Given the description of an element on the screen output the (x, y) to click on. 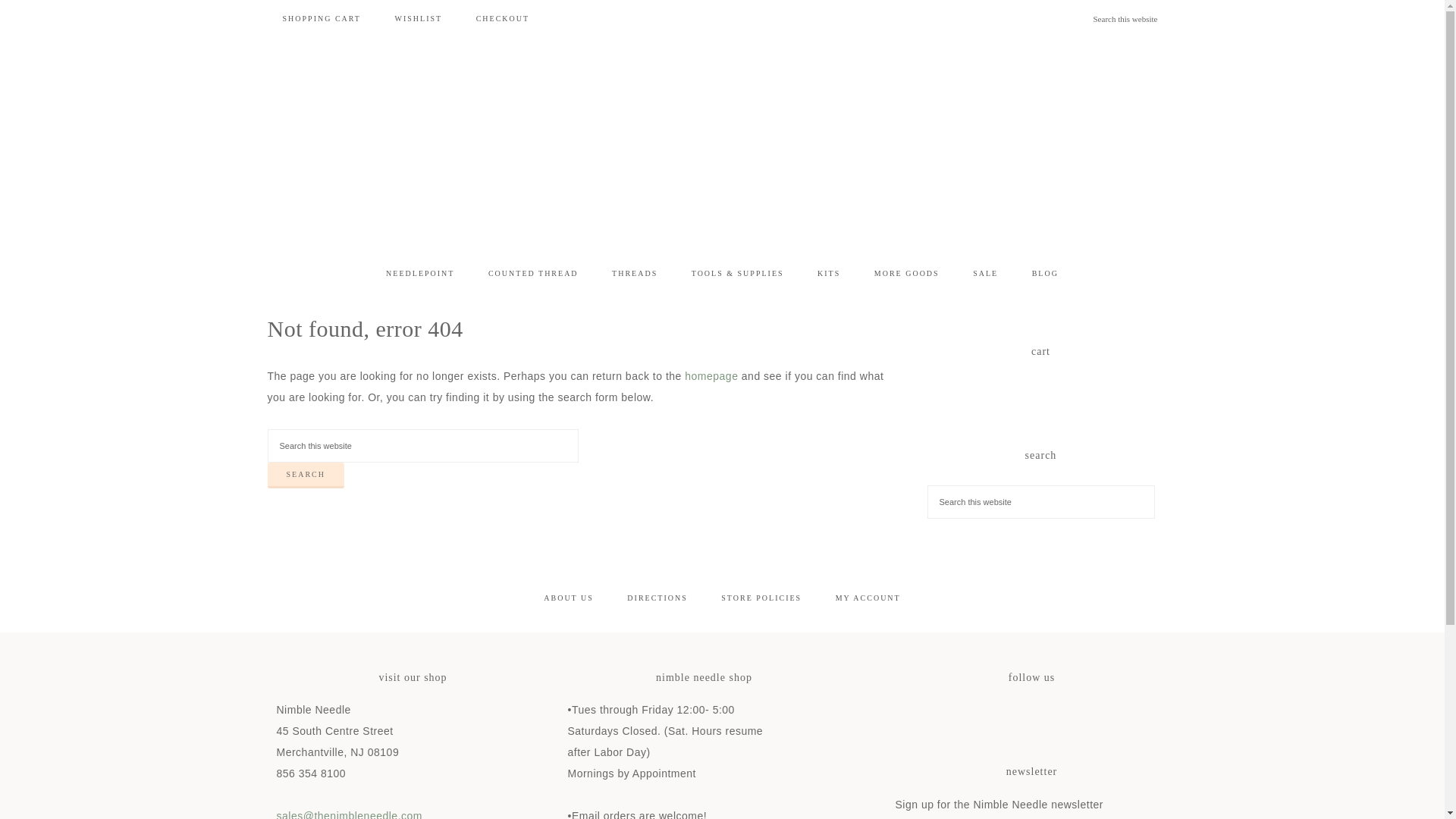
COUNTED THREAD (533, 273)
NEEDLEPOINT (419, 273)
WISHLIST (417, 18)
CHECKOUT (502, 18)
Search (304, 475)
SHOPPING CART (320, 18)
THREADS (634, 273)
Search (304, 475)
